Given the description of an element on the screen output the (x, y) to click on. 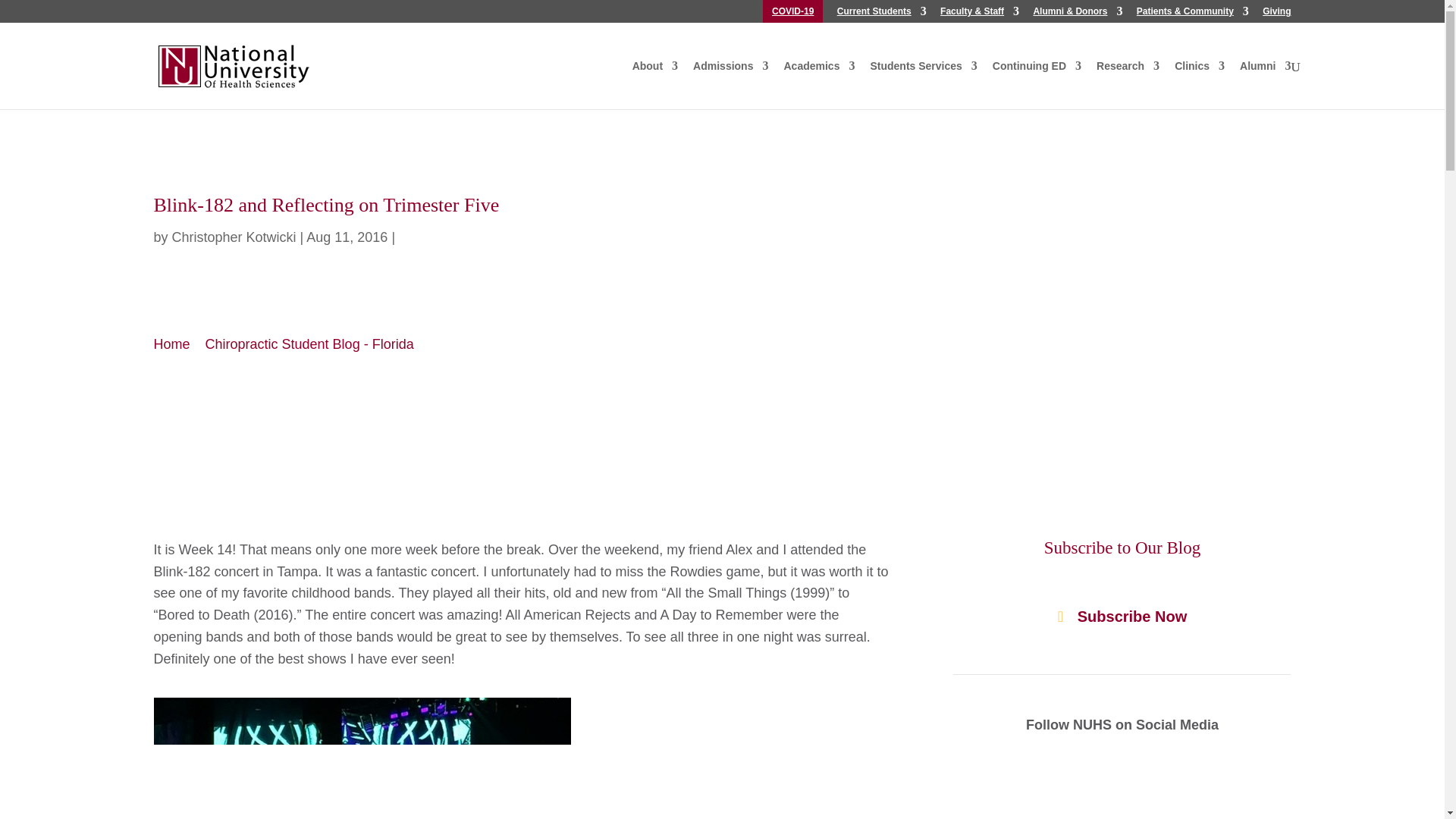
Follow on Instagram (1182, 793)
Follow on LinkedIn (1091, 793)
COVID-19 (792, 14)
Follow on Facebook (1061, 793)
Giving (1276, 14)
Follow on X (1121, 793)
Follow on Youtube (1152, 793)
About (654, 73)
Current Students (881, 14)
Posts by Christopher Kotwicki (234, 237)
